Given the description of an element on the screen output the (x, y) to click on. 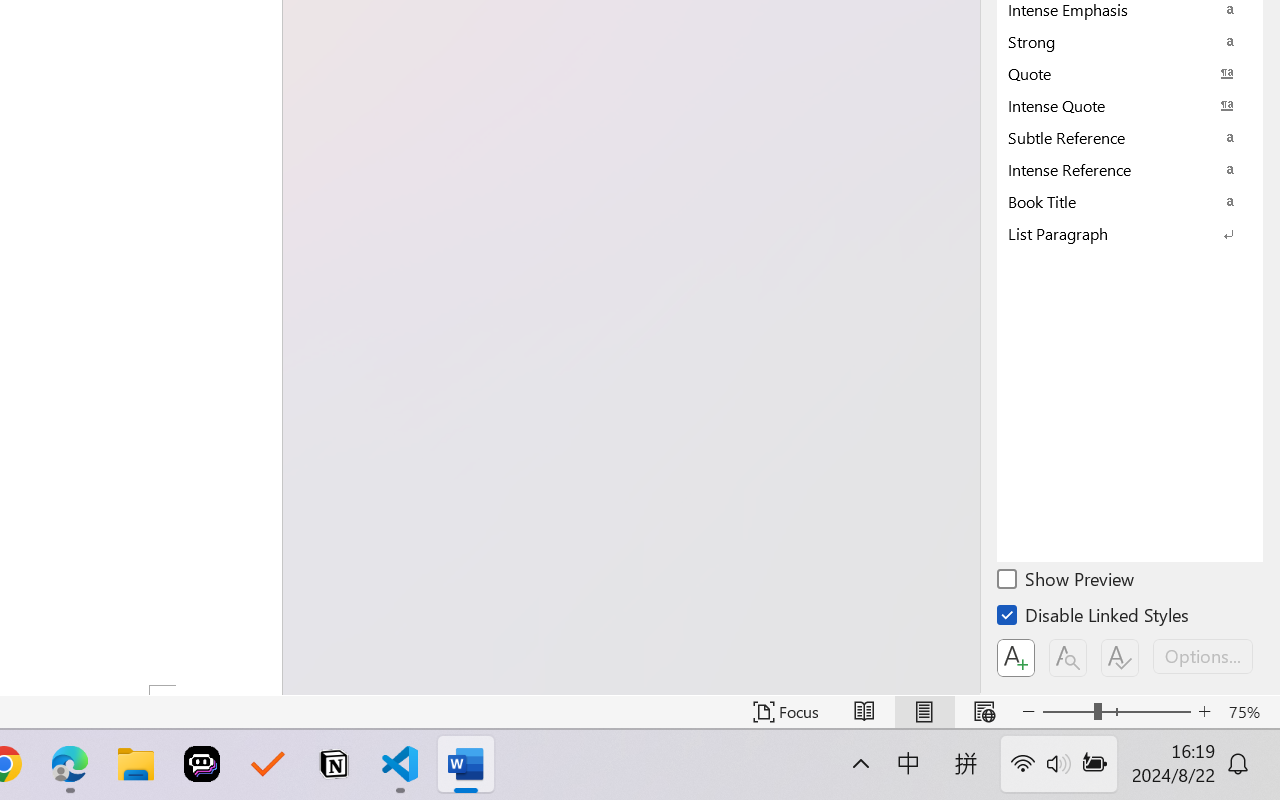
Disable Linked Styles (1094, 618)
Intense Quote (1130, 105)
Strong (1130, 41)
